Given the description of an element on the screen output the (x, y) to click on. 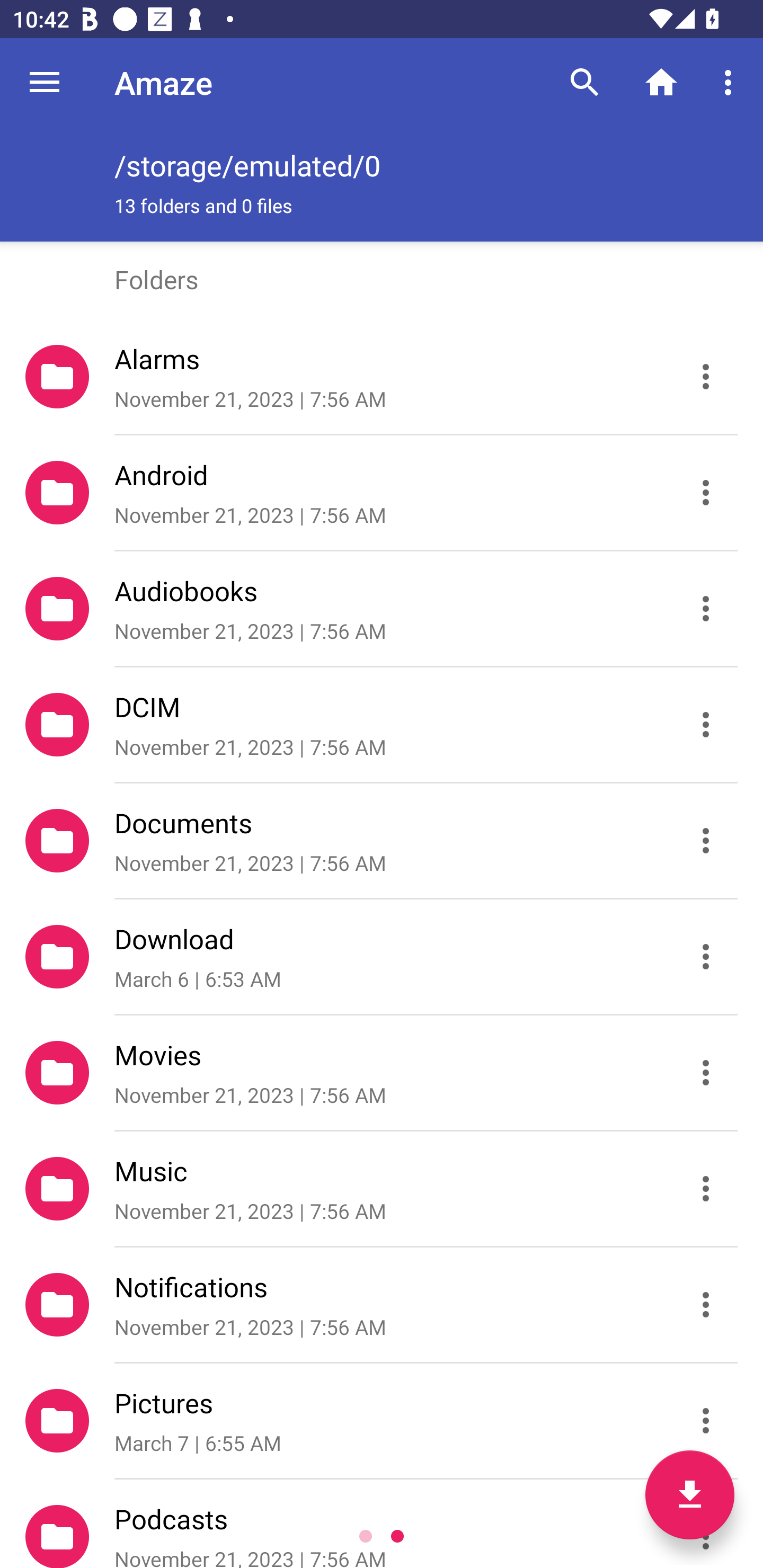
Navigate up (44, 82)
Search (585, 81)
Home (661, 81)
More options (731, 81)
Alarms November 21, 2023 | 7:56 AM (381, 376)
Android November 21, 2023 | 7:56 AM (381, 492)
Audiobooks November 21, 2023 | 7:56 AM (381, 608)
DCIM November 21, 2023 | 7:56 AM (381, 724)
Documents November 21, 2023 | 7:56 AM (381, 841)
Download March 6 | 6:53 AM (381, 957)
Movies November 21, 2023 | 7:56 AM (381, 1073)
Music November 21, 2023 | 7:56 AM (381, 1189)
Notifications November 21, 2023 | 7:56 AM (381, 1305)
Pictures March 7 | 6:55 AM (381, 1421)
Podcasts November 21, 2023 | 7:56 AM (381, 1524)
